Given the description of an element on the screen output the (x, y) to click on. 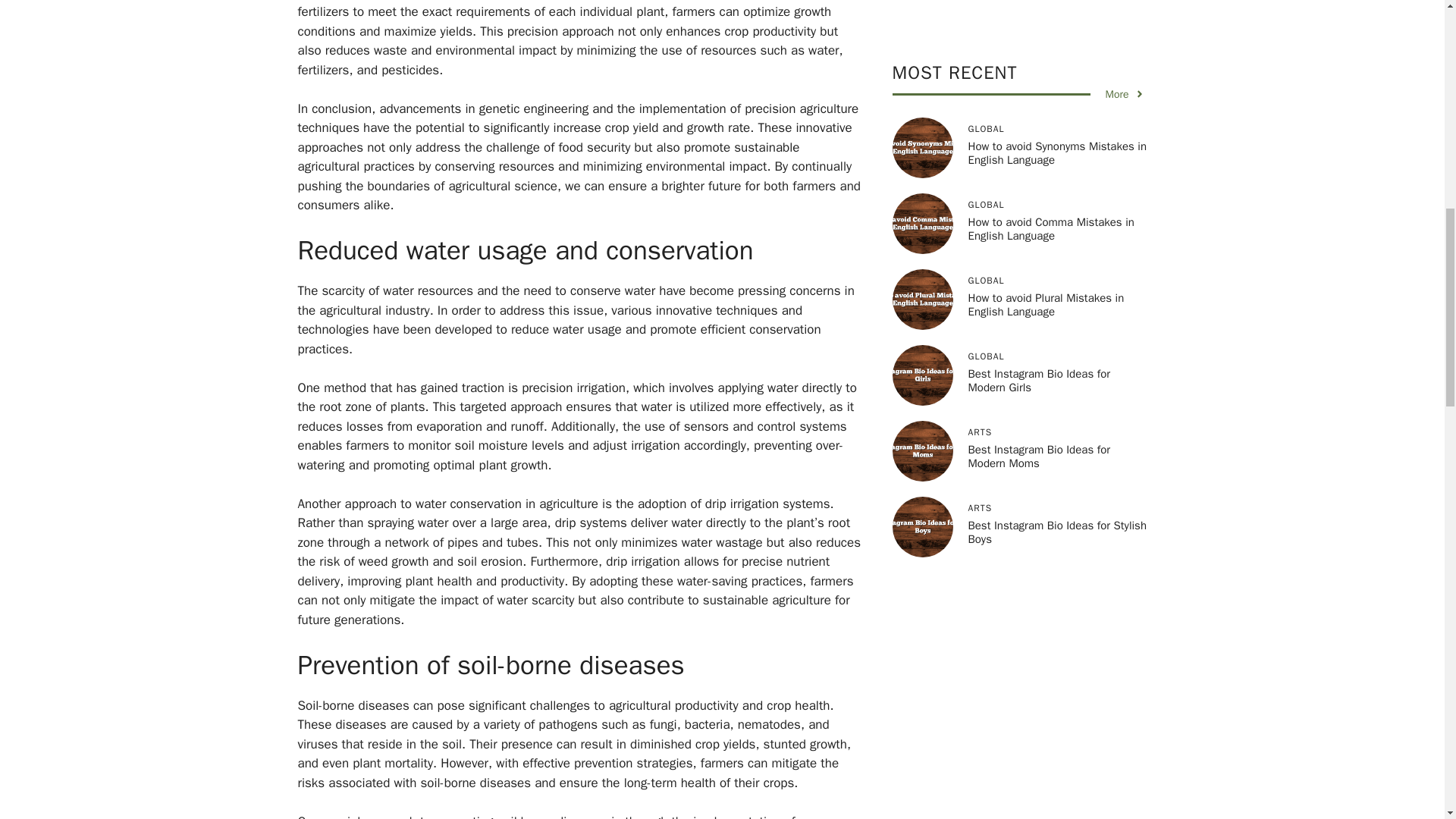
Best Instagram Bio Ideas for Stylish Boys (1056, 117)
Best Instagram Bio Ideas for Modern Moms (1038, 41)
